Given the description of an element on the screen output the (x, y) to click on. 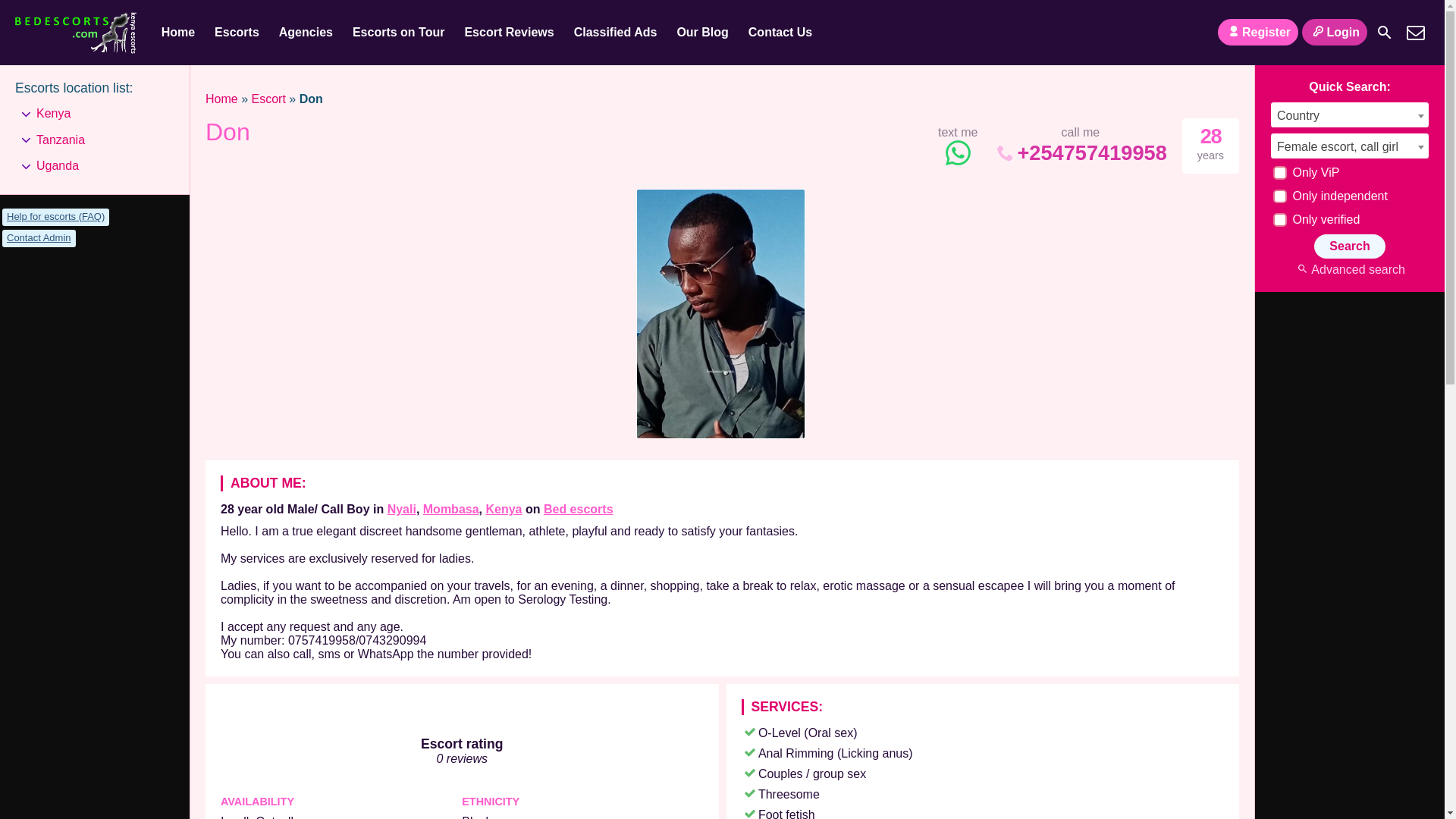
Home (178, 33)
Mombasa (451, 508)
Home (221, 98)
Kenya (502, 508)
Kenya (502, 508)
Country (1349, 115)
Contact Us (1415, 31)
Login (1334, 31)
Agencies (305, 33)
Register (1257, 31)
Mombasa (451, 508)
Classified Ads (615, 33)
Escort Reviews (508, 33)
Search (1349, 246)
Contact Us (780, 33)
